Given the description of an element on the screen output the (x, y) to click on. 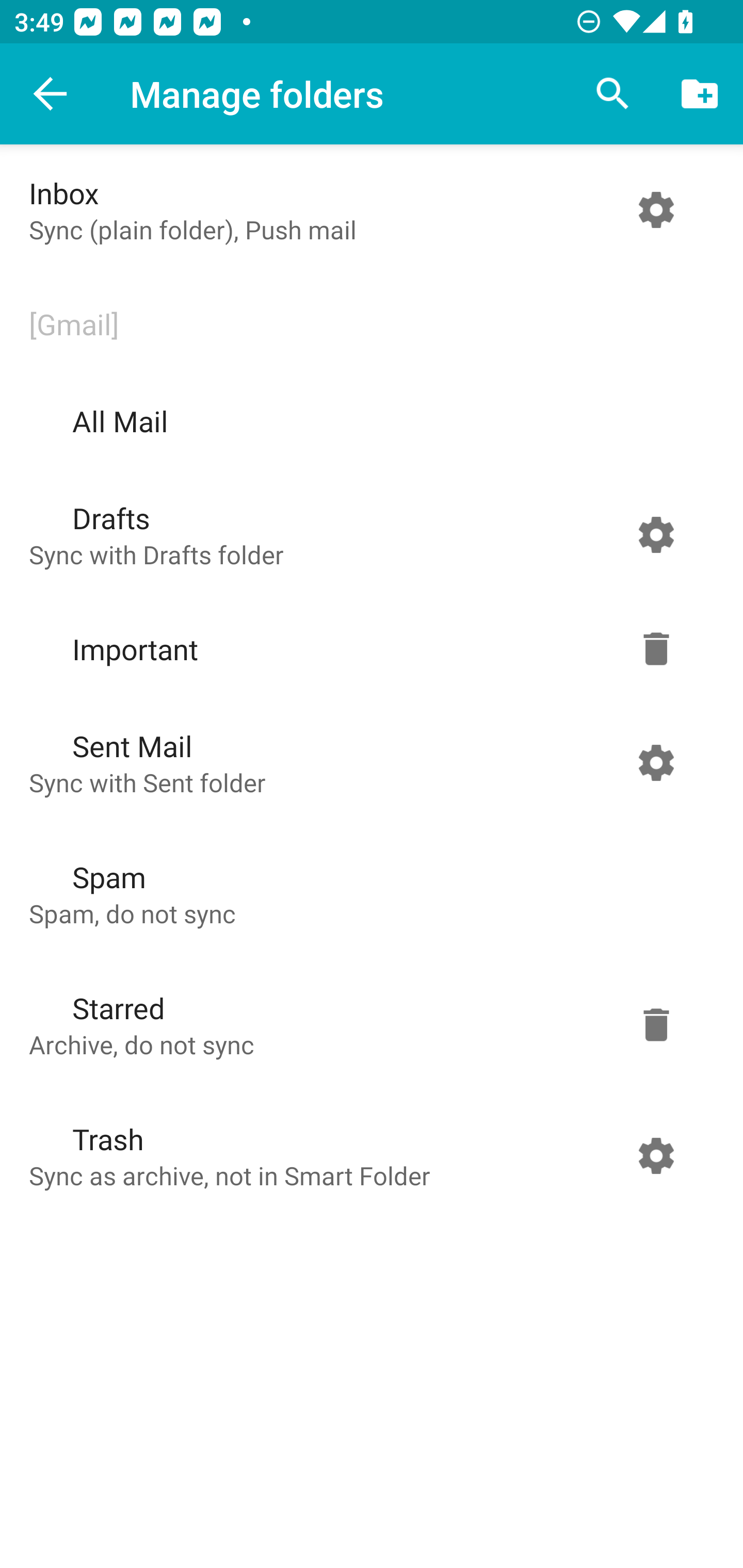
Navigate up (50, 93)
Search folders (612, 93)
Create folder (699, 93)
Folder settings (655, 209)
All Mail (367, 420)
Drafts Sync with Drafts folder Folder settings (367, 534)
Folder settings (655, 534)
Important Folder settings (367, 648)
Folder settings (655, 648)
Sent Mail Sync with Sent folder Folder settings (367, 762)
Folder settings (655, 762)
Spam Spam, do not sync (367, 893)
Starred Archive, do not sync Folder settings (367, 1024)
Folder settings (655, 1024)
Folder settings (655, 1155)
